Given the description of an element on the screen output the (x, y) to click on. 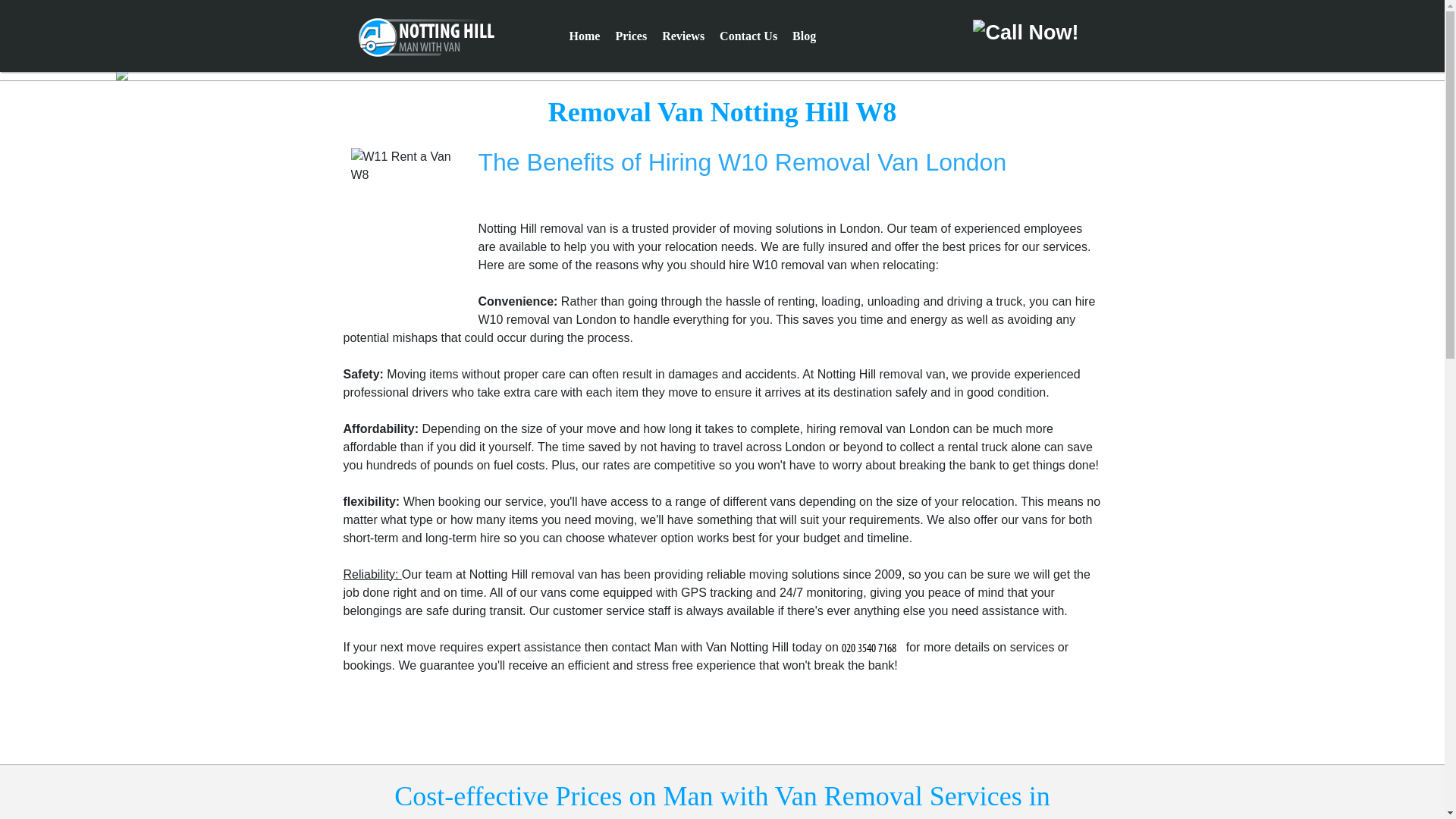
3 (737, 72)
3 (737, 72)
Reviews (682, 36)
1 (717, 72)
Call Now! (1023, 31)
2 (726, 72)
Contact Us (747, 36)
1 (717, 72)
2 (726, 72)
Blog (804, 36)
Home (584, 36)
Call Now! (871, 646)
Prices (630, 36)
